Given the description of an element on the screen output the (x, y) to click on. 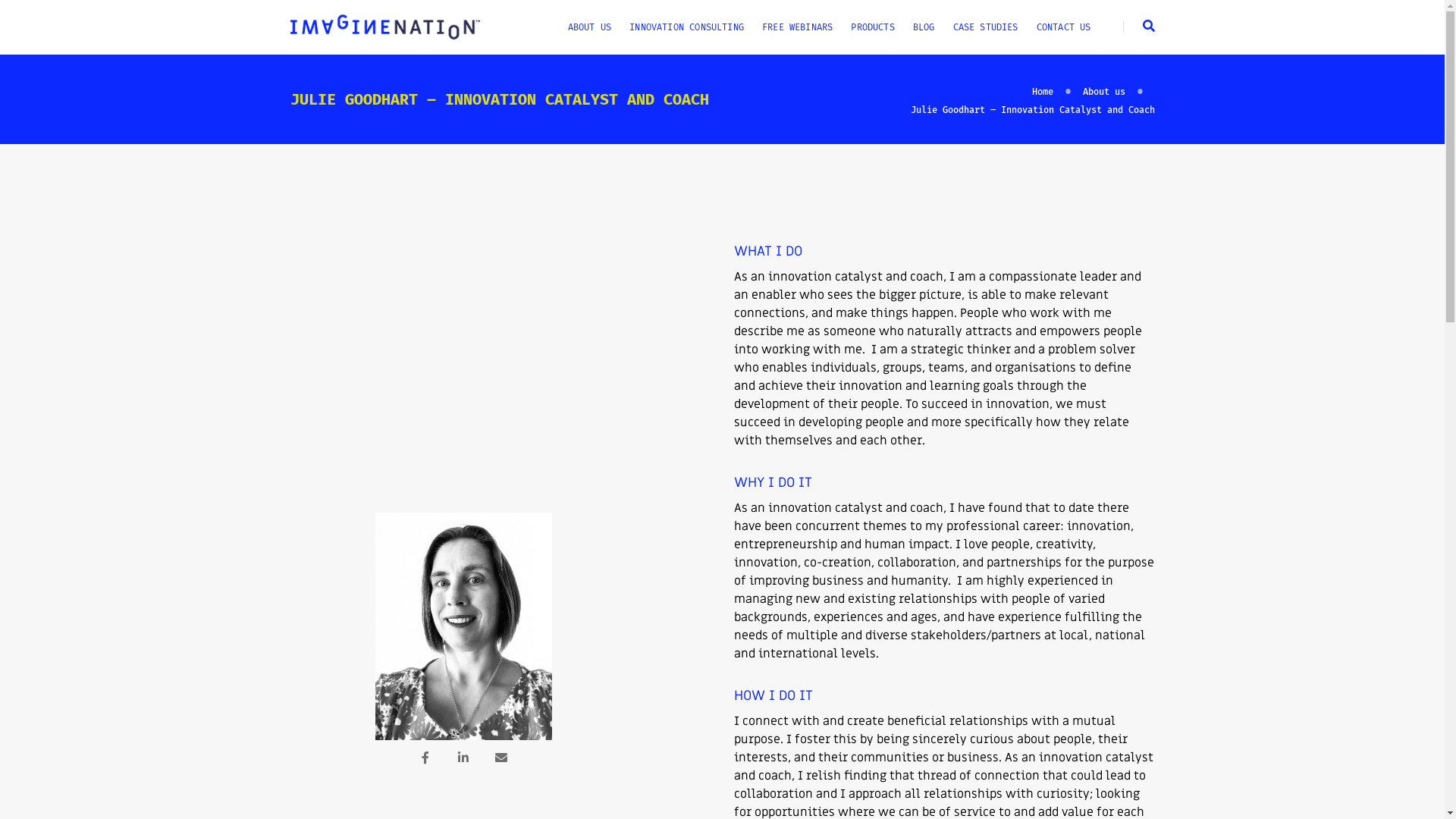
PRODUCTS Element type: text (872, 27)
CONTACT US Element type: text (1063, 27)
BLOG Element type: text (924, 27)
Home Element type: text (1041, 91)
Julie_Goodhart_2021 Element type: hover (463, 626)
FREE WEBINARS Element type: text (797, 27)
About us Element type: text (1103, 91)
ABOUT US Element type: text (589, 27)
imaginenation Element type: hover (384, 26)
INNOVATION CONSULTING Element type: text (686, 27)
CASE STUDIES Element type: text (985, 27)
